Given the description of an element on the screen output the (x, y) to click on. 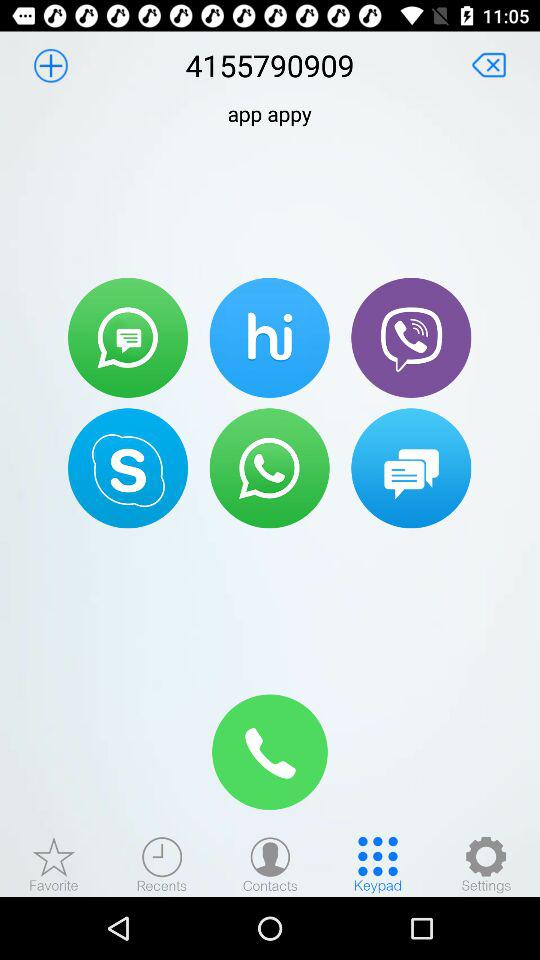
close button (489, 65)
